Given the description of an element on the screen output the (x, y) to click on. 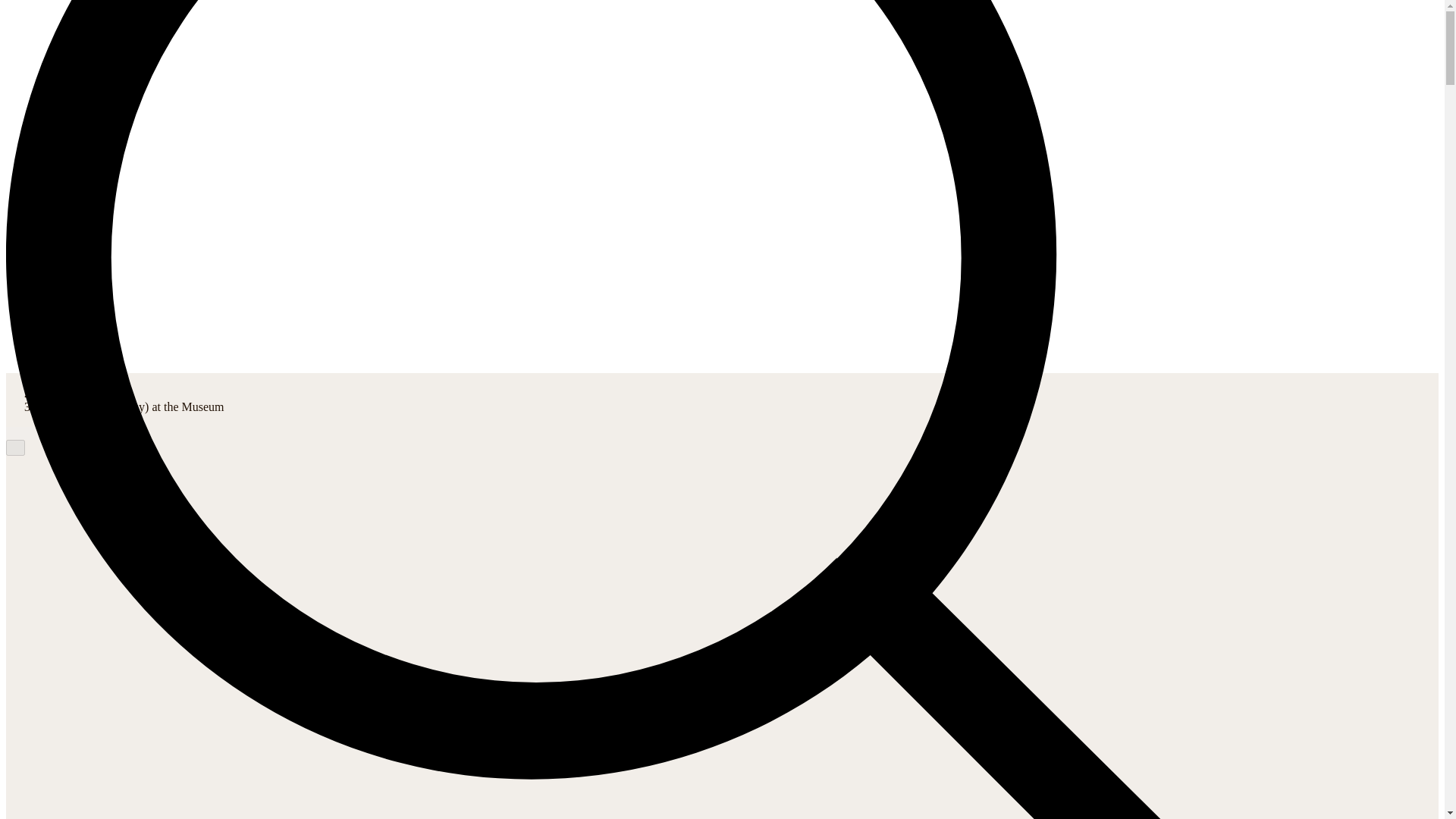
Travel (55, 179)
Contact (60, 272)
Home (50, 379)
search (14, 447)
search (14, 447)
Home (50, 379)
Search (57, 241)
Pages (53, 52)
Shop (51, 211)
Blog (47, 392)
Blog (47, 392)
Home (54, 22)
